Given the description of an element on the screen output the (x, y) to click on. 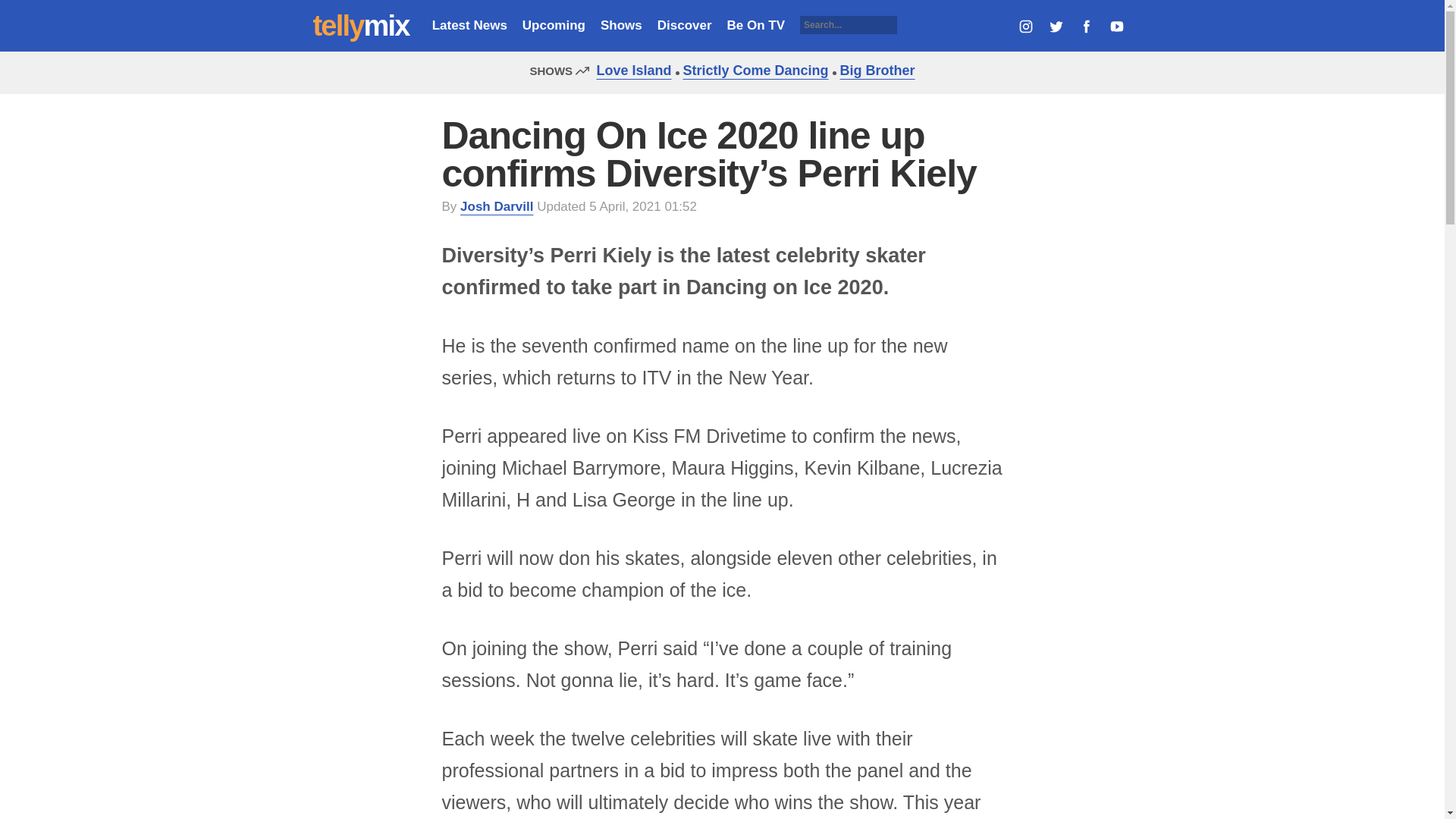
Be On TV (756, 25)
Upcoming (553, 25)
Josh Darvill (496, 206)
Latest News (469, 25)
Strictly Come Dancing (751, 70)
tellymix (361, 25)
Discover (684, 25)
Love Island (629, 70)
Big Brother (873, 70)
Shows (620, 25)
